Given the description of an element on the screen output the (x, y) to click on. 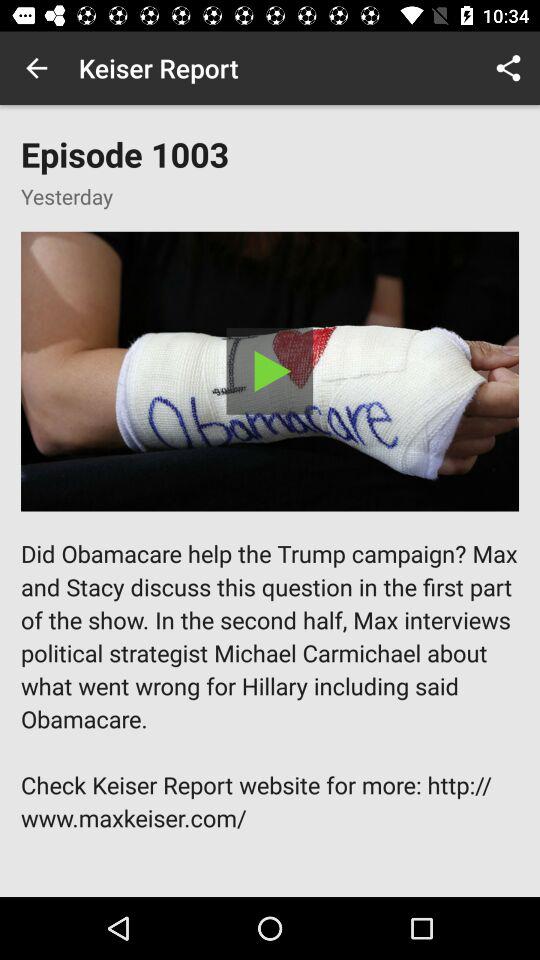
open the item above the did obamacare help item (270, 371)
